Given the description of an element on the screen output the (x, y) to click on. 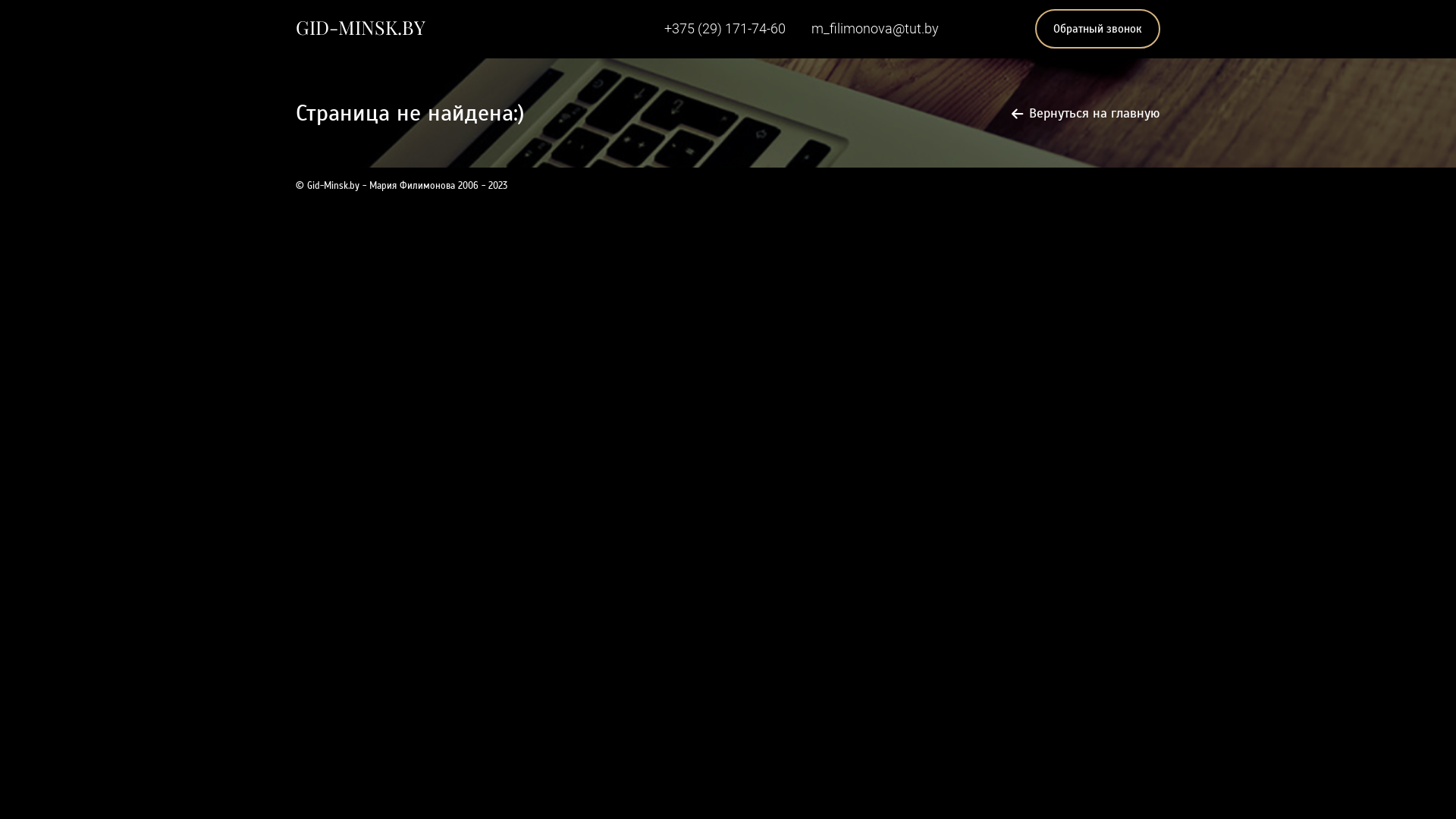
GID-MINSK.BY Element type: text (360, 26)
